Given the description of an element on the screen output the (x, y) to click on. 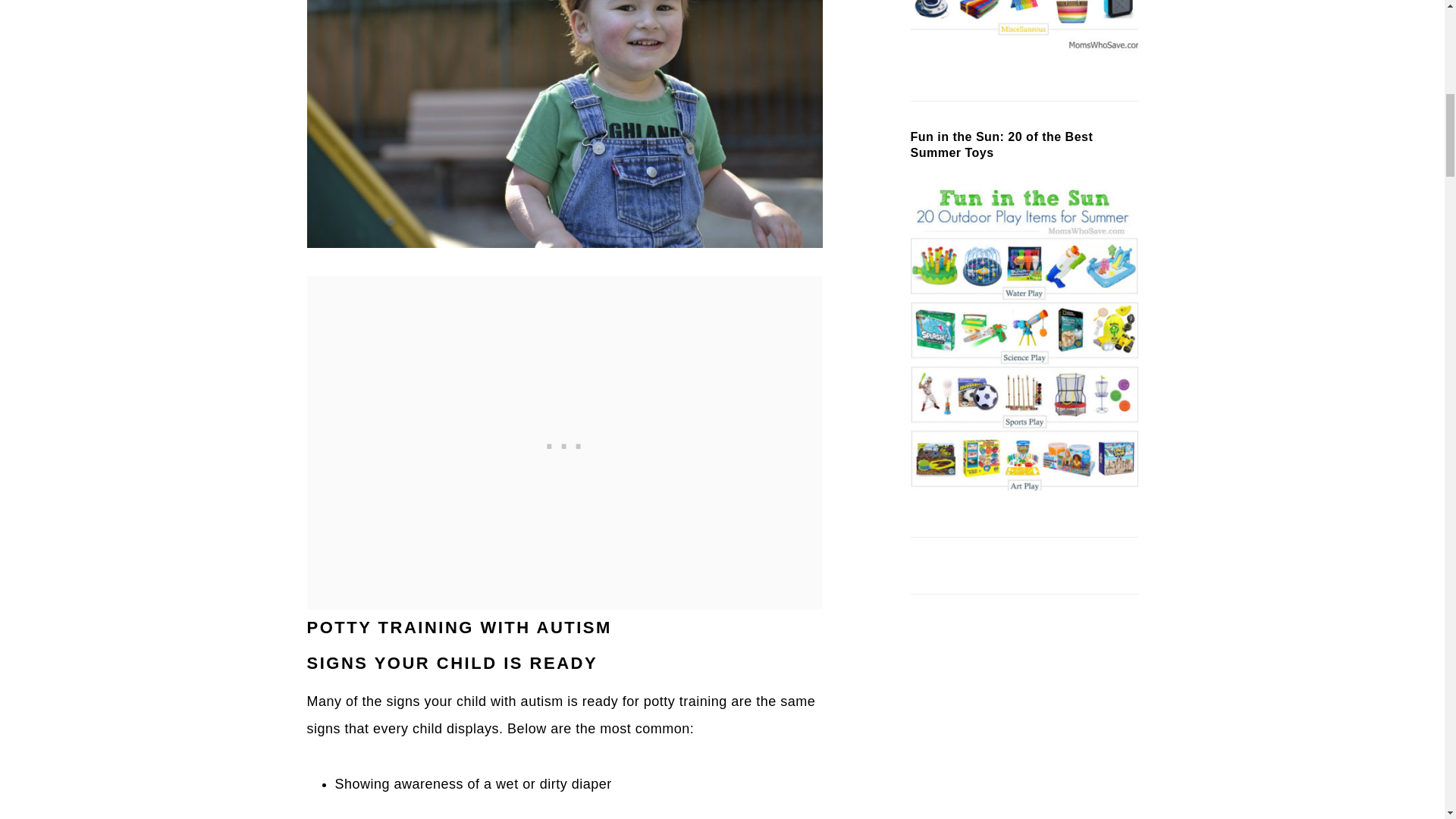
Potty Training With Autism (563, 124)
